Given the description of an element on the screen output the (x, y) to click on. 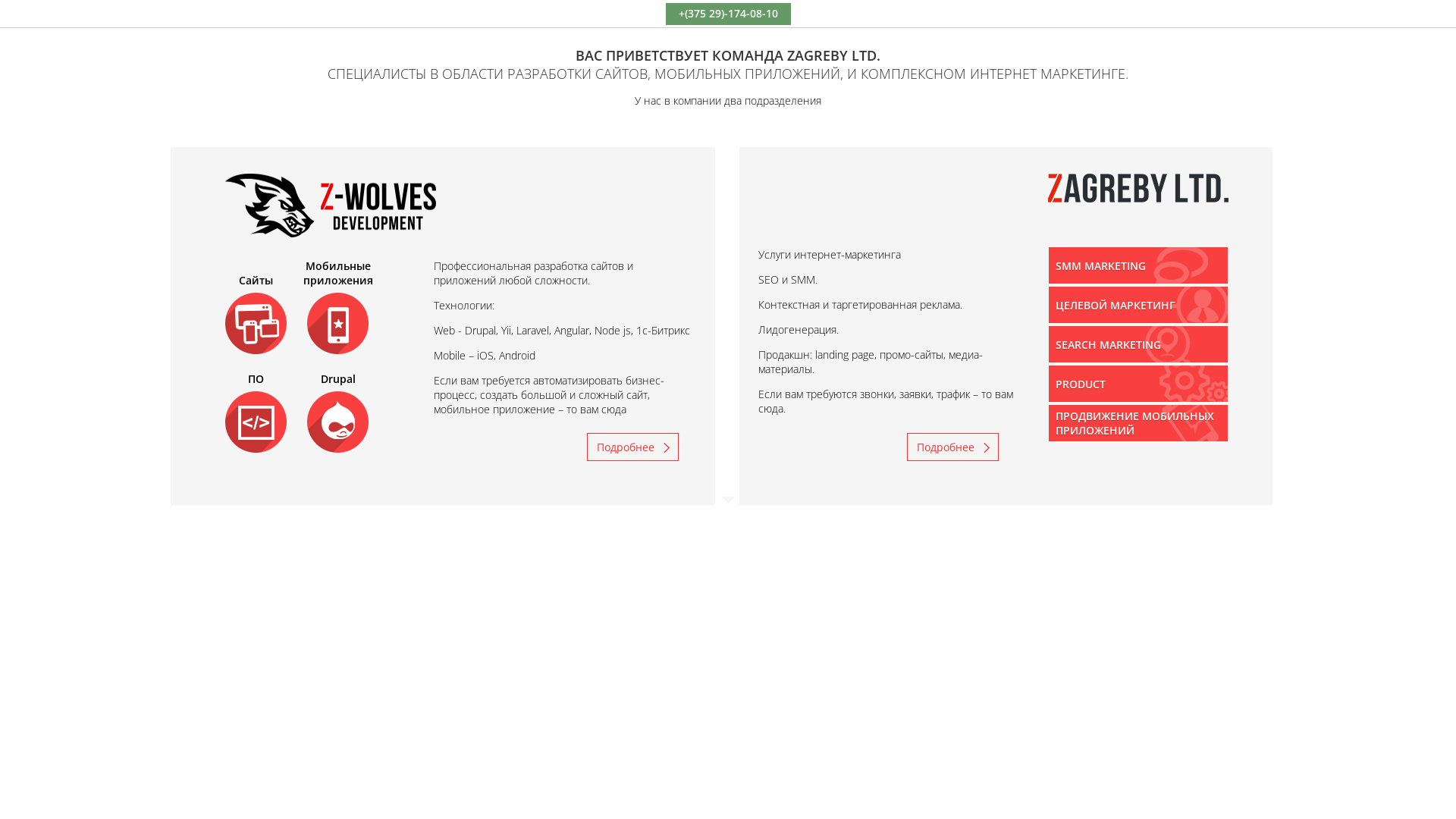
+(375 29)-174-08-10 Element type: text (727, 13)
